Given the description of an element on the screen output the (x, y) to click on. 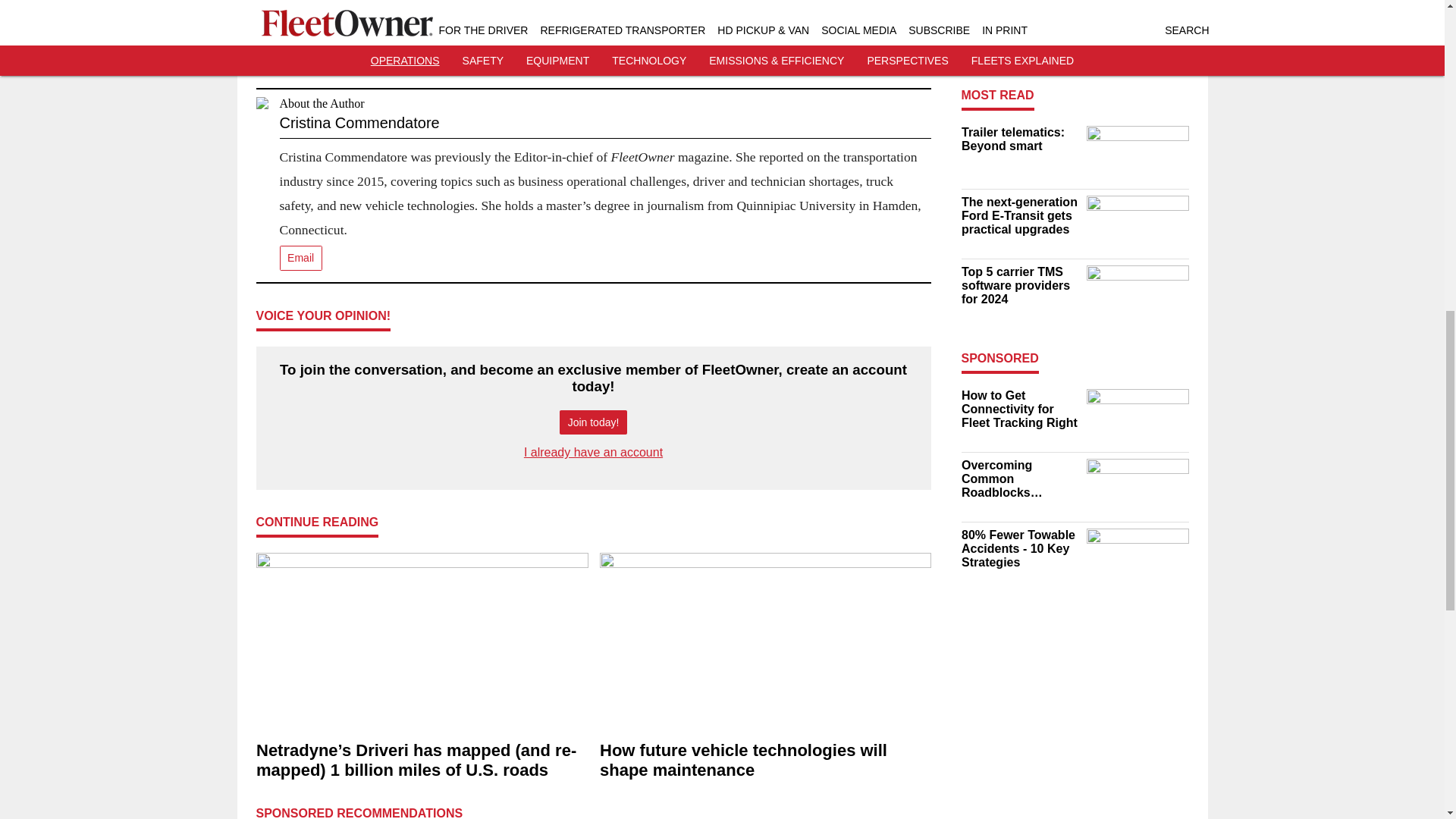
Join today! (593, 422)
How future vehicle technologies will shape maintenance (764, 761)
Email (300, 258)
I already have an account (593, 451)
